Given the description of an element on the screen output the (x, y) to click on. 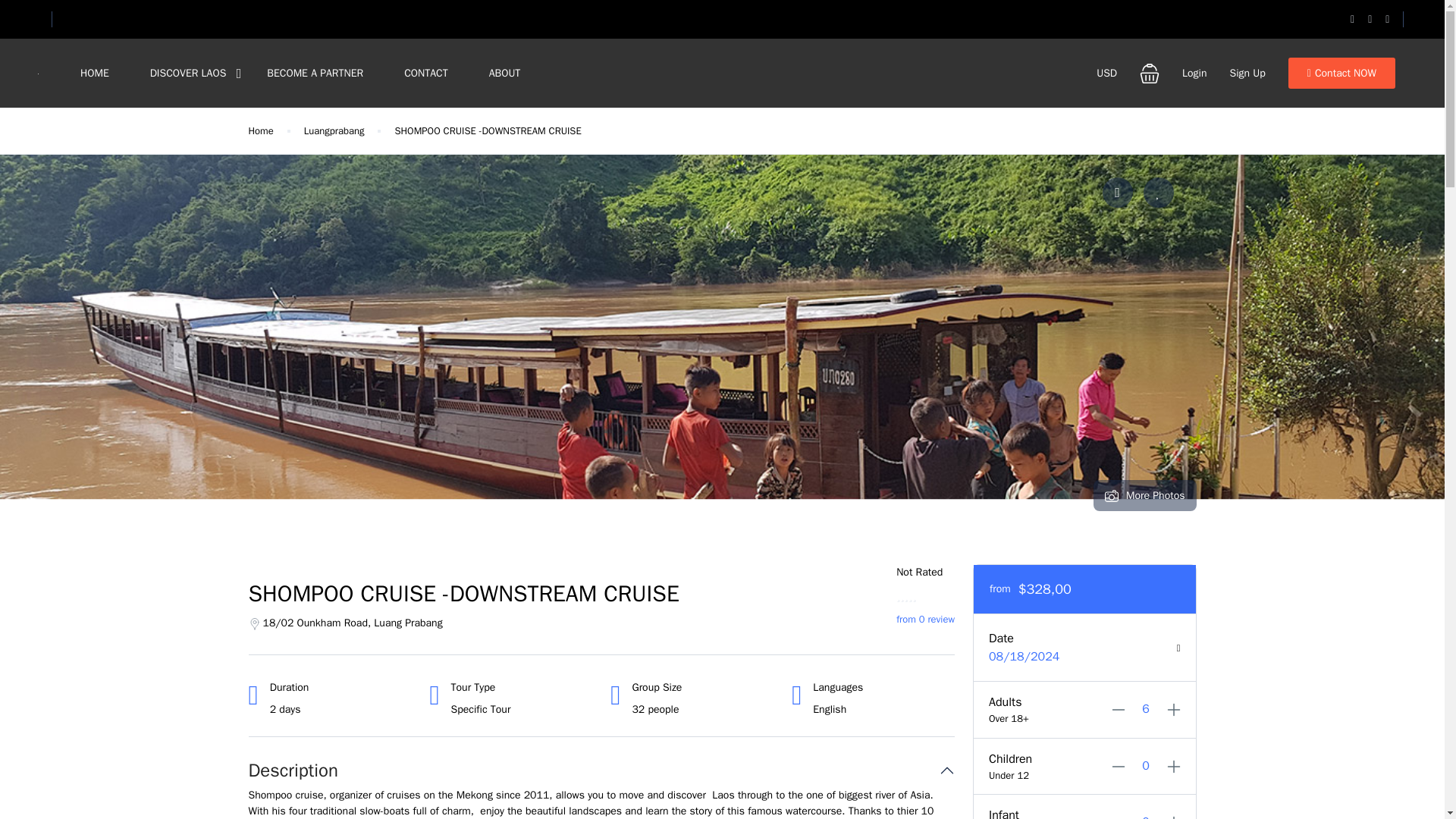
6 (1145, 709)
0 (1145, 814)
BECOME A PARTNER (314, 72)
USD (1106, 72)
HOME (94, 72)
Luangprabang (334, 130)
Home (260, 130)
Contact NOW (1341, 72)
0 (1145, 765)
Login (1194, 72)
